Given the description of an element on the screen output the (x, y) to click on. 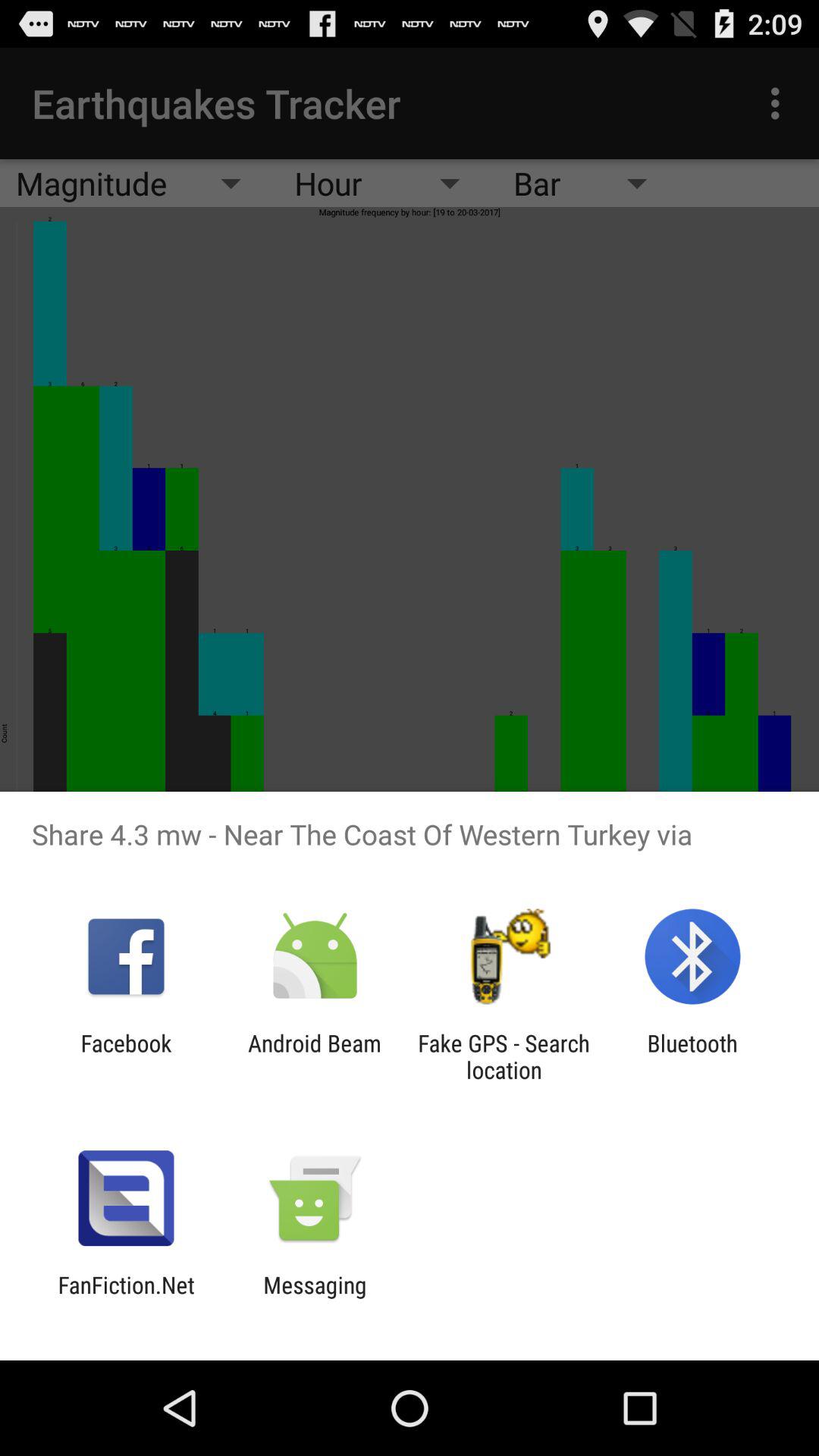
flip until android beam app (314, 1056)
